Given the description of an element on the screen output the (x, y) to click on. 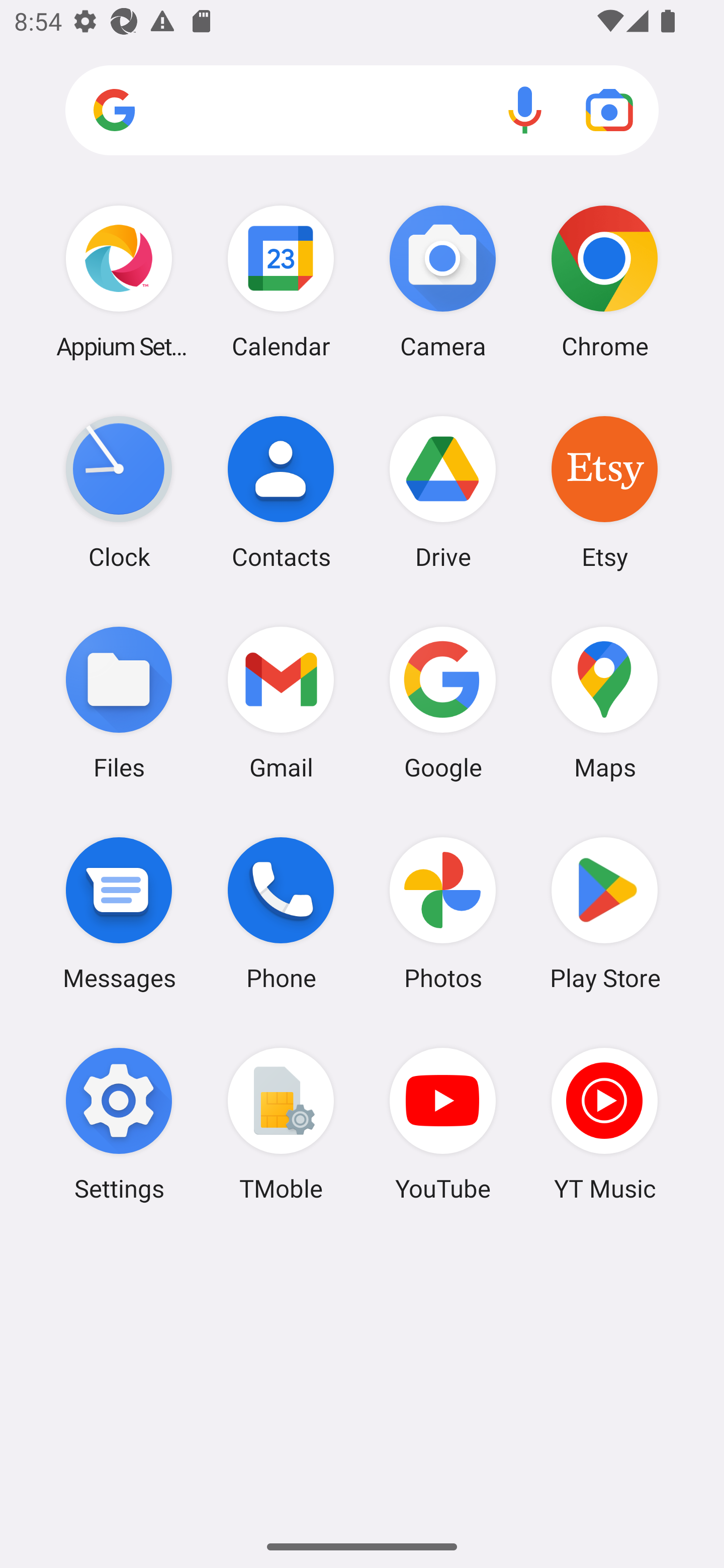
Search apps, web and more (361, 110)
Voice search (524, 109)
Google Lens (608, 109)
Appium Settings (118, 281)
Calendar (280, 281)
Camera (443, 281)
Chrome (604, 281)
Clock (118, 492)
Contacts (280, 492)
Drive (443, 492)
Etsy (604, 492)
Files (118, 702)
Gmail (280, 702)
Google (443, 702)
Maps (604, 702)
Messages (118, 913)
Phone (280, 913)
Photos (443, 913)
Play Store (604, 913)
Settings (118, 1124)
TMoble (280, 1124)
YouTube (443, 1124)
YT Music (604, 1124)
